Given the description of an element on the screen output the (x, y) to click on. 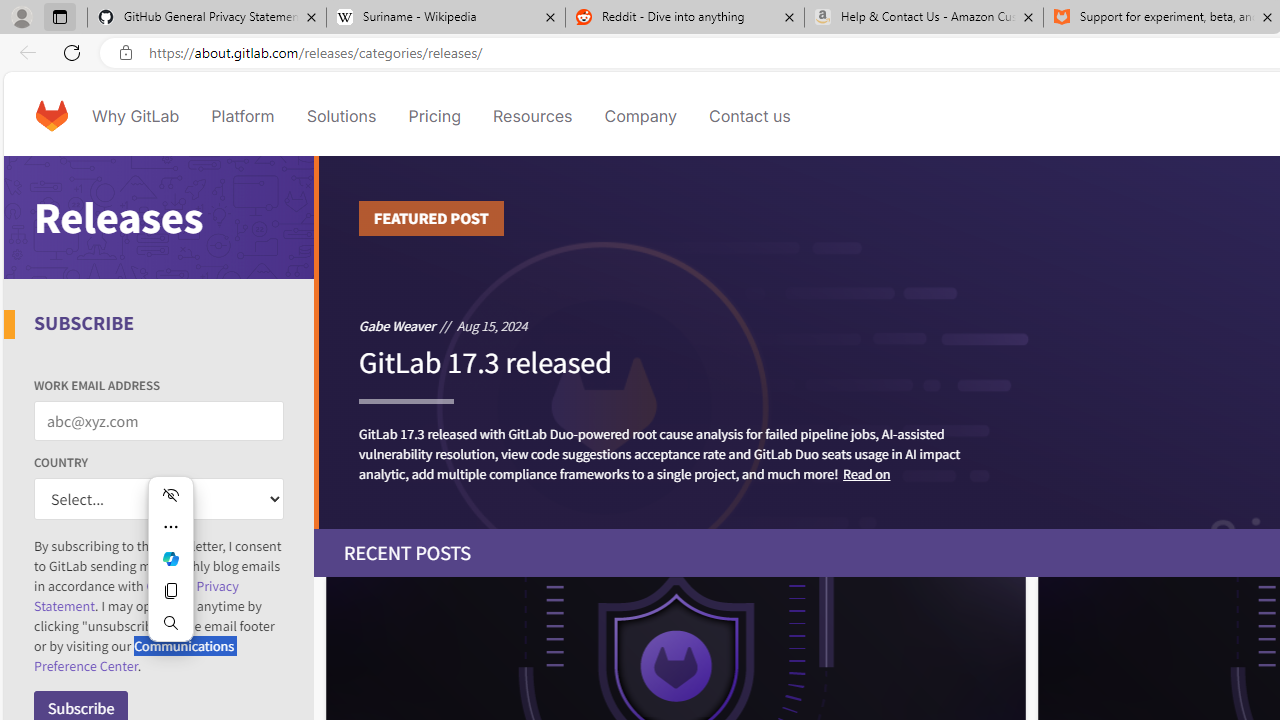
Resources (532, 115)
Solutions (341, 115)
GitLab home page (51, 115)
Suriname - Wikipedia (445, 17)
WORK EMAIL ADDRESS (159, 421)
Mini menu on text selection (170, 570)
GitHub General Privacy Statement - GitHub Docs (207, 17)
